Given the description of an element on the screen output the (x, y) to click on. 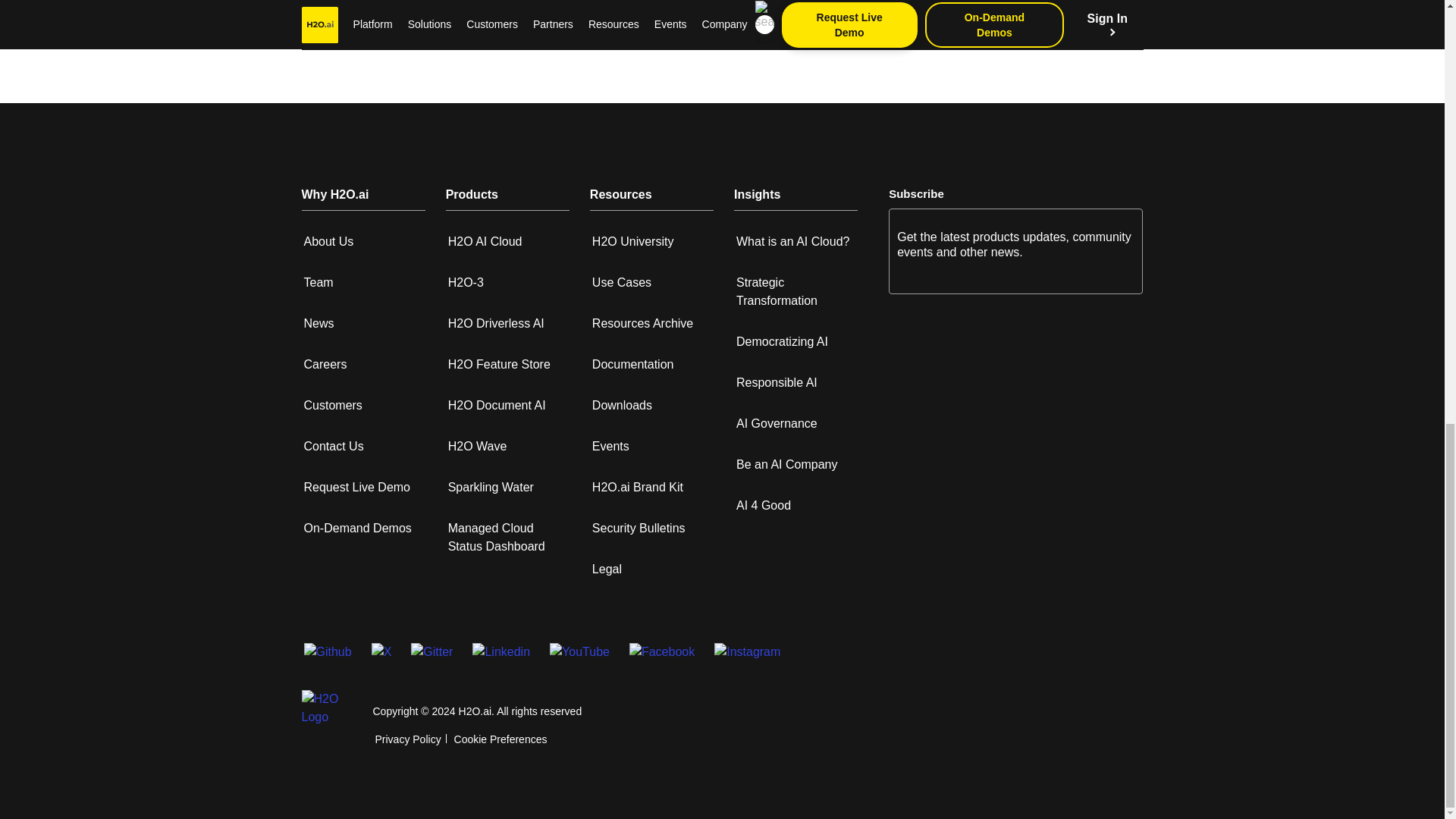
H2O University (633, 241)
H2O Wave (477, 445)
H2O AI Cloud (485, 241)
Request Live Demo (356, 486)
Contact Us (332, 445)
Careers (324, 364)
On-Demand Demos (356, 527)
Team (317, 282)
H2O Feature Store (499, 364)
Resources Archive (642, 323)
